Given the description of an element on the screen output the (x, y) to click on. 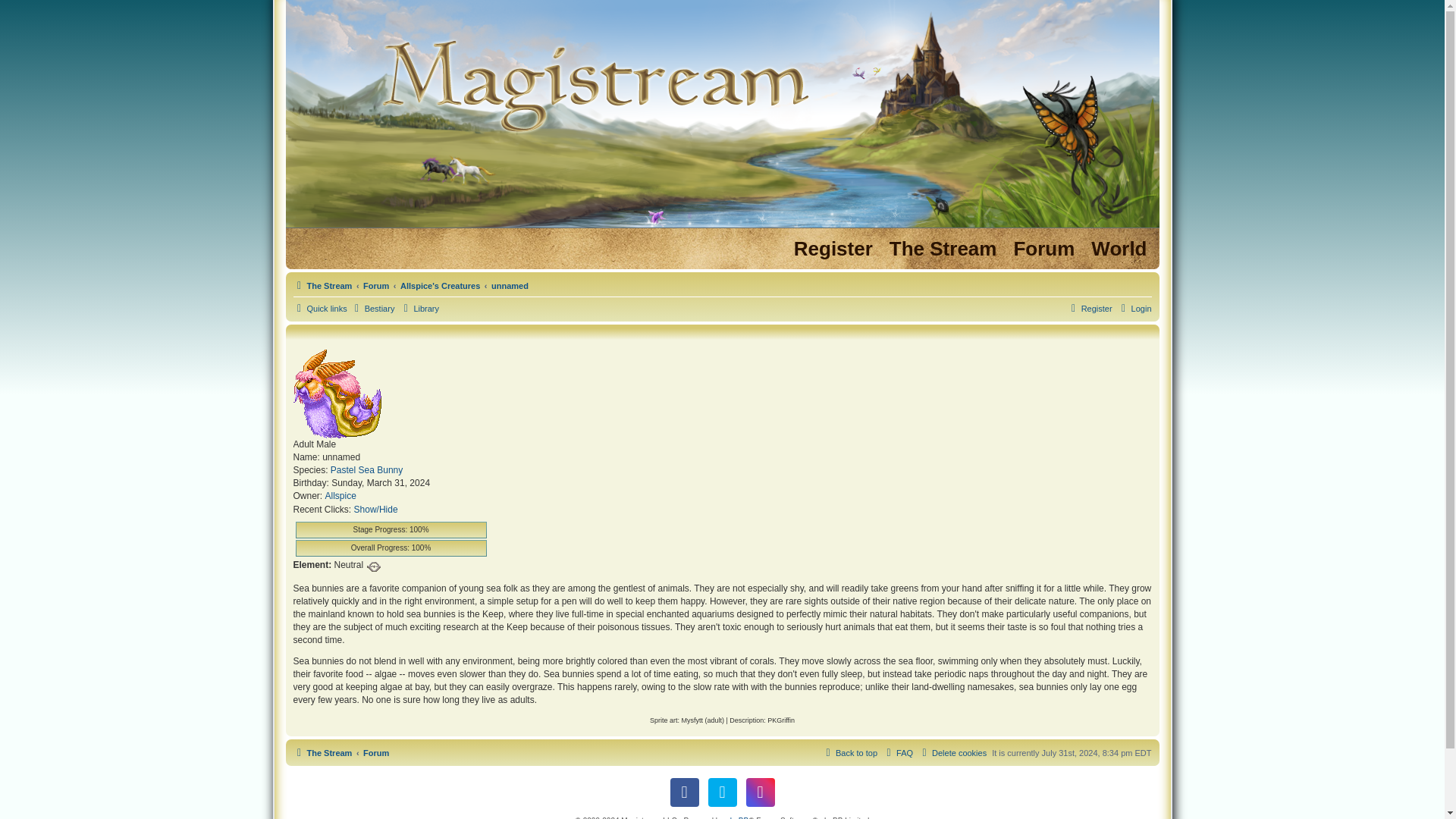
Forum (375, 285)
Library (418, 308)
Login (1134, 308)
Forum (375, 752)
Forum (375, 285)
Index of the discussion boards (1043, 248)
Explore the World of Magistream (1118, 248)
Login (1134, 308)
unnamed (510, 285)
The element Neutral (373, 565)
Create an account on the site (833, 248)
Delete cookies (952, 752)
Register (833, 248)
Allspice's Creatures (440, 285)
unnamed (510, 285)
